Given the description of an element on the screen output the (x, y) to click on. 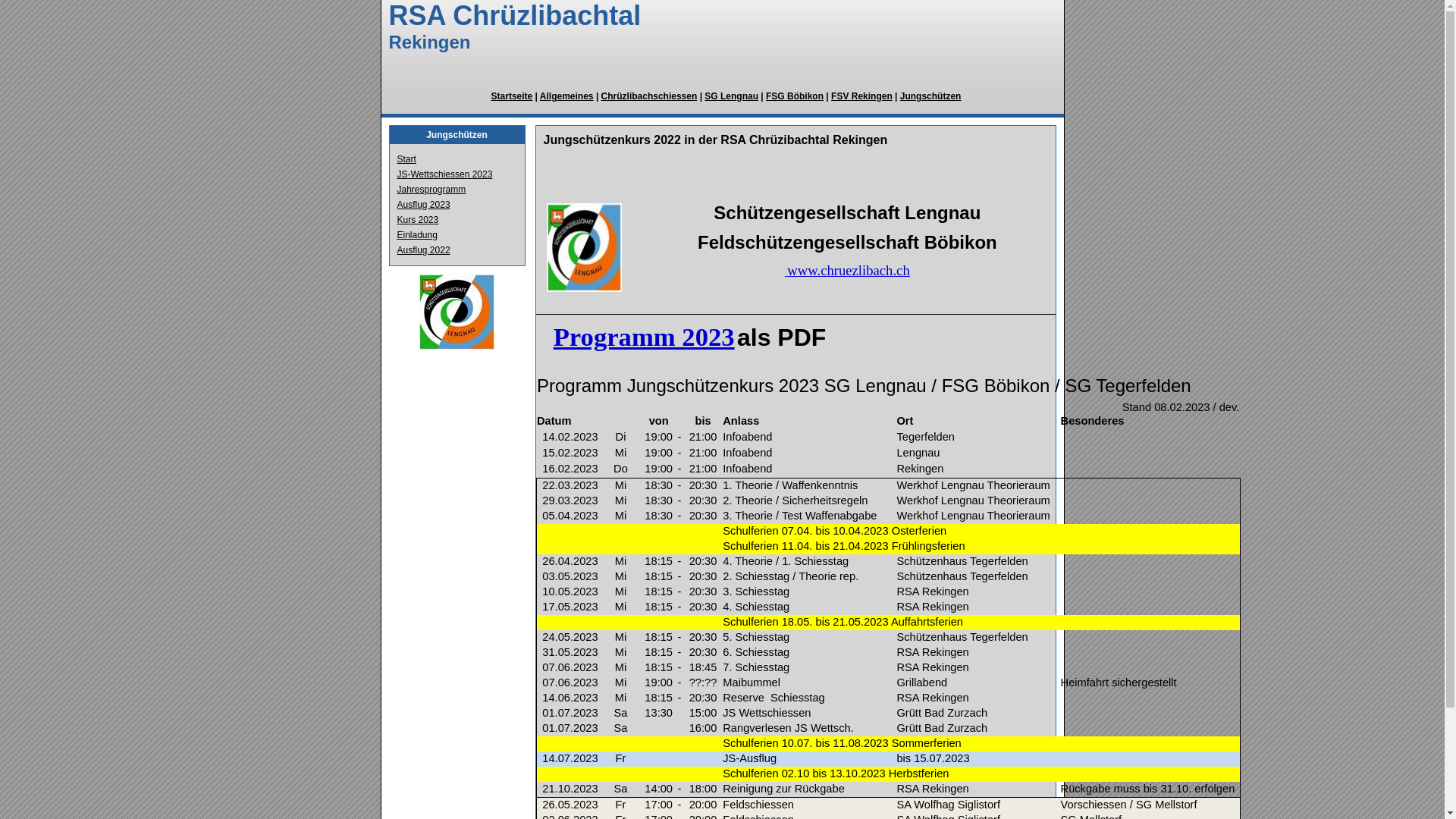
Allgemeines Element type: text (566, 96)
Jahresprogramm Element type: text (431, 189)
Ausflug 2022 Element type: text (423, 249)
Einladung Element type: text (417, 234)
Startseite Element type: text (512, 96)
FSV Rekingen Element type: text (861, 96)
Programm 2023 Element type: text (643, 336)
SG Lengnau Element type: text (731, 96)
Kurs 2023 Element type: text (418, 219)
Start Element type: text (406, 158)
 www.chruezlibach.ch Element type: text (847, 271)
JS-Wettschiessen 2023 Element type: text (444, 174)
Ausflug 2023 Element type: text (423, 204)
